Given the description of an element on the screen output the (x, y) to click on. 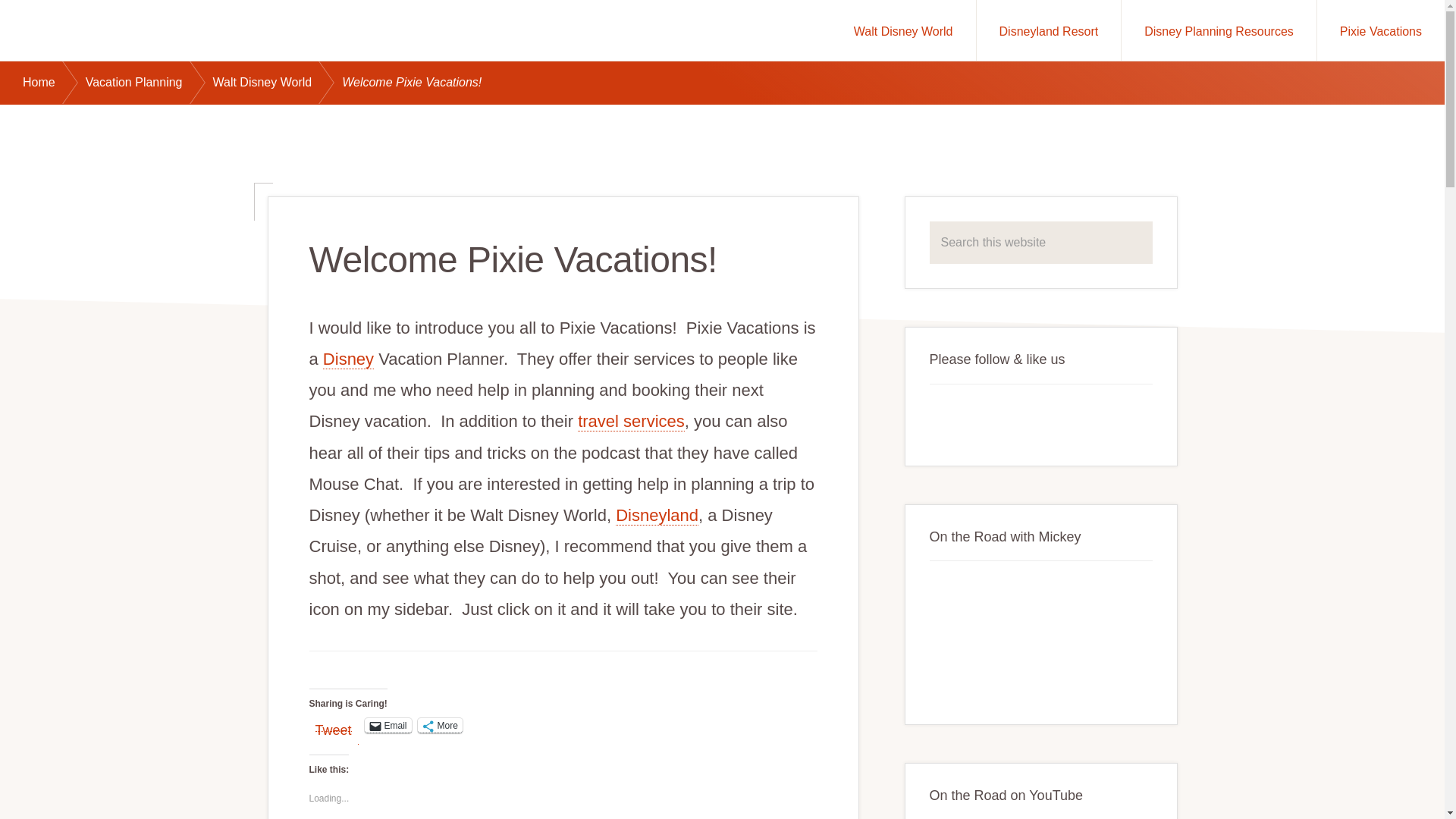
Travel agency (631, 421)
Close and accept (1372, 788)
Twitter (1015, 417)
Disneyland (656, 515)
Disneyland Resort (1048, 30)
YouTube (980, 417)
Walt Disney World (903, 30)
Facebook (947, 417)
Click to email a link to a friend (388, 725)
The Walt Disney Company (348, 359)
